Given the description of an element on the screen output the (x, y) to click on. 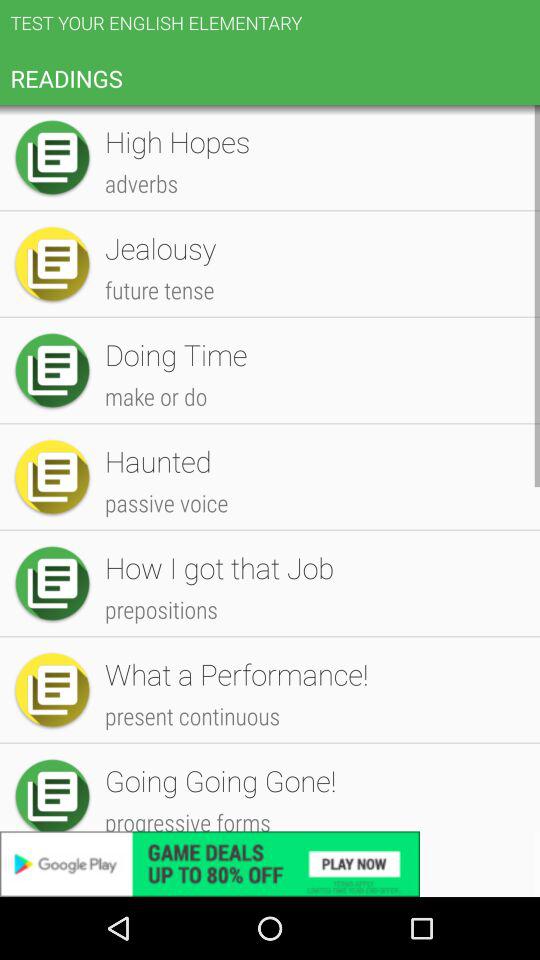
swipe to the millionaire (311, 545)
